Given the description of an element on the screen output the (x, y) to click on. 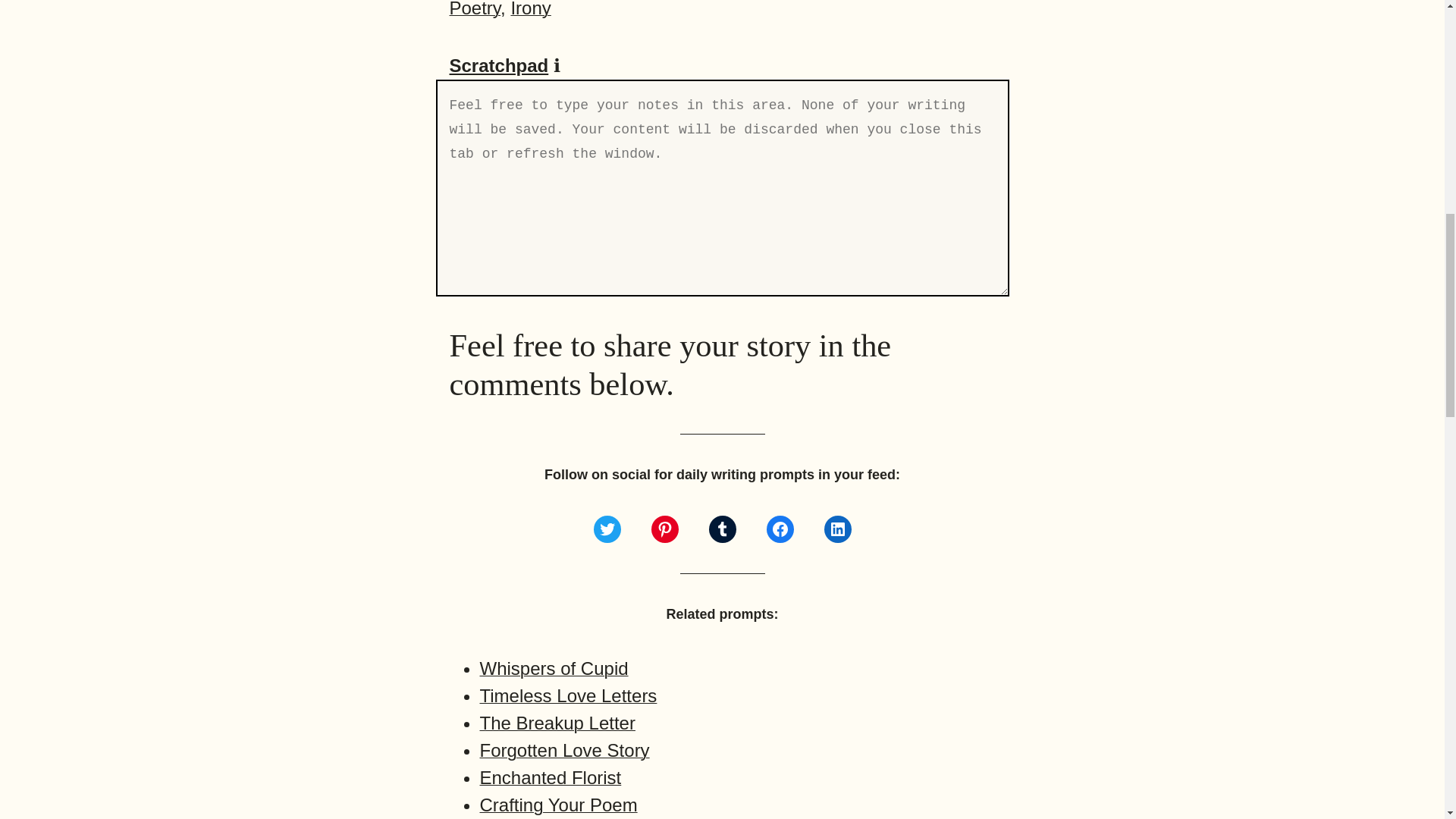
Explore this writing prompt. (556, 722)
Timeless Love Letters (567, 695)
Irony (530, 9)
Irony (530, 9)
LinkedIn (837, 528)
Poetry (474, 9)
Tumblr (721, 528)
Explore this writing prompt. (567, 695)
Facebook (779, 528)
Poetry (474, 9)
